Given the description of an element on the screen output the (x, y) to click on. 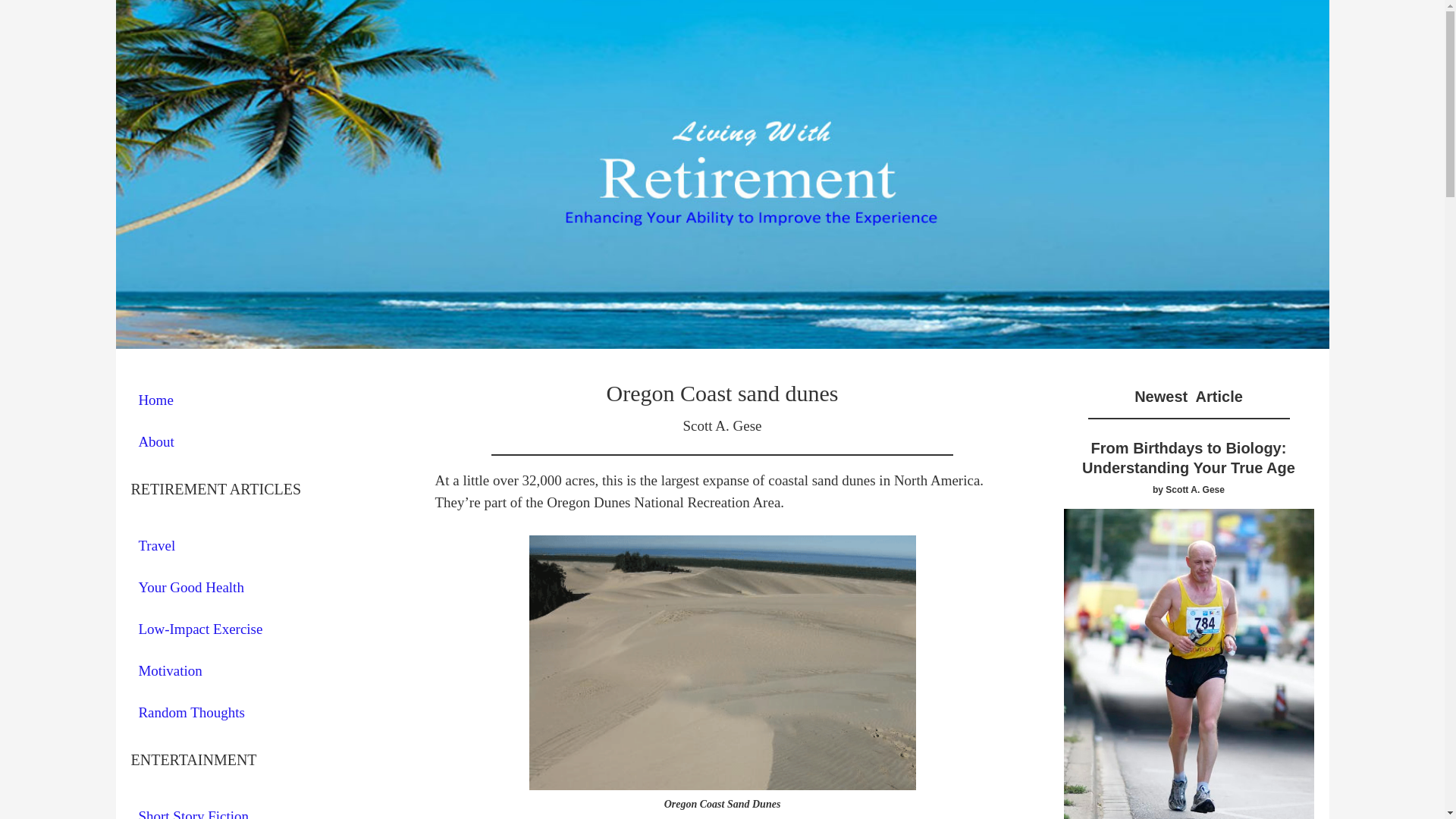
Home (255, 400)
About (255, 442)
Motivation (255, 670)
Oregon coast sand dunes (722, 662)
Low-Impact Exercise (255, 628)
Short Story Fiction (255, 808)
Random Thoughts (255, 712)
Travel (255, 545)
Your Good Health (255, 587)
